Given the description of an element on the screen output the (x, y) to click on. 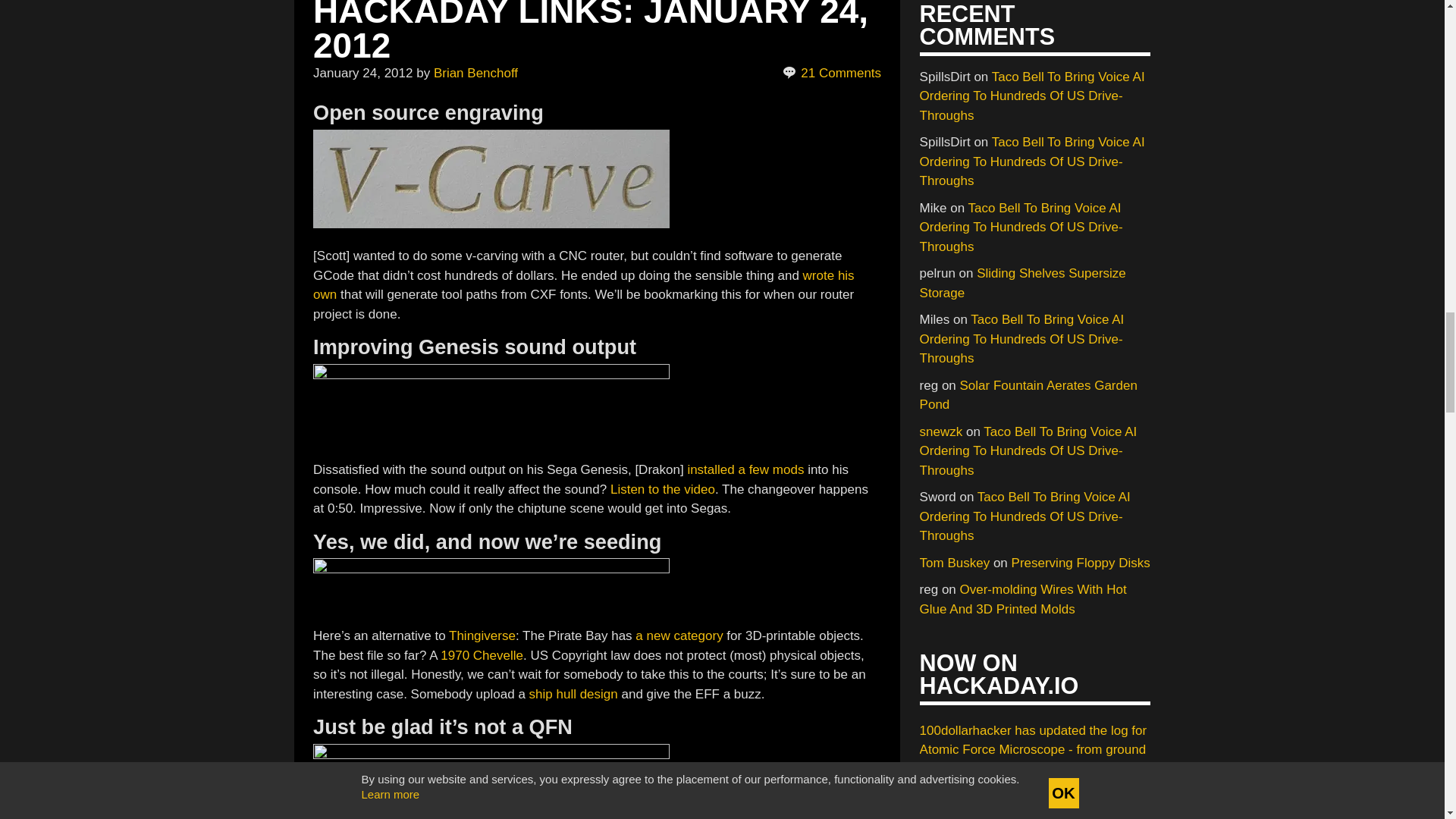
Posts by Brian Benchoff (475, 73)
genesis (491, 405)
car (491, 585)
chip (491, 781)
January 24, 2012 - 11:01 am (362, 73)
vcarve (491, 178)
